Given the description of an element on the screen output the (x, y) to click on. 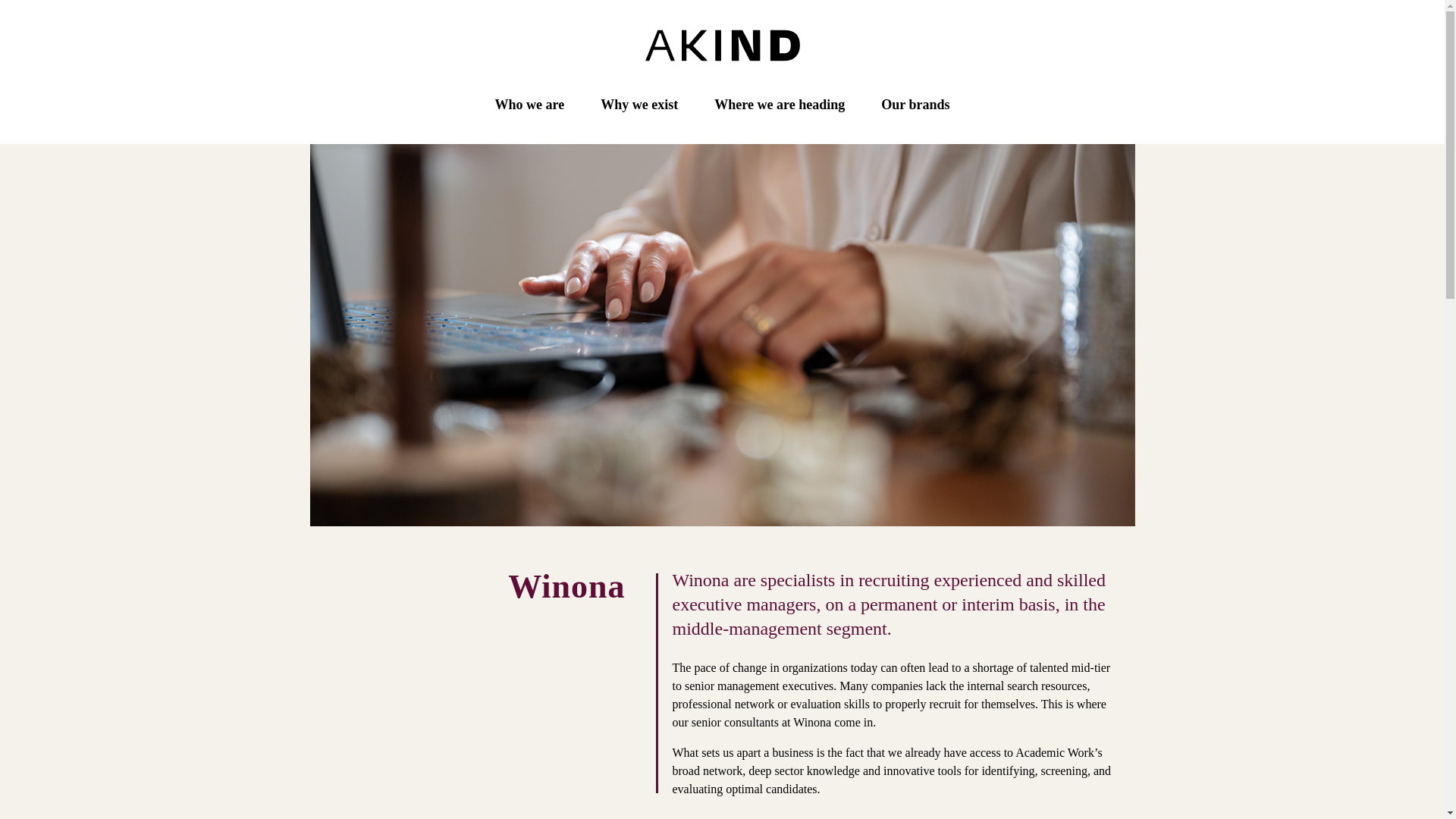
Our brands (914, 104)
Where we are heading (779, 104)
Why we exist (638, 104)
Who we are (529, 104)
